Given the description of an element on the screen output the (x, y) to click on. 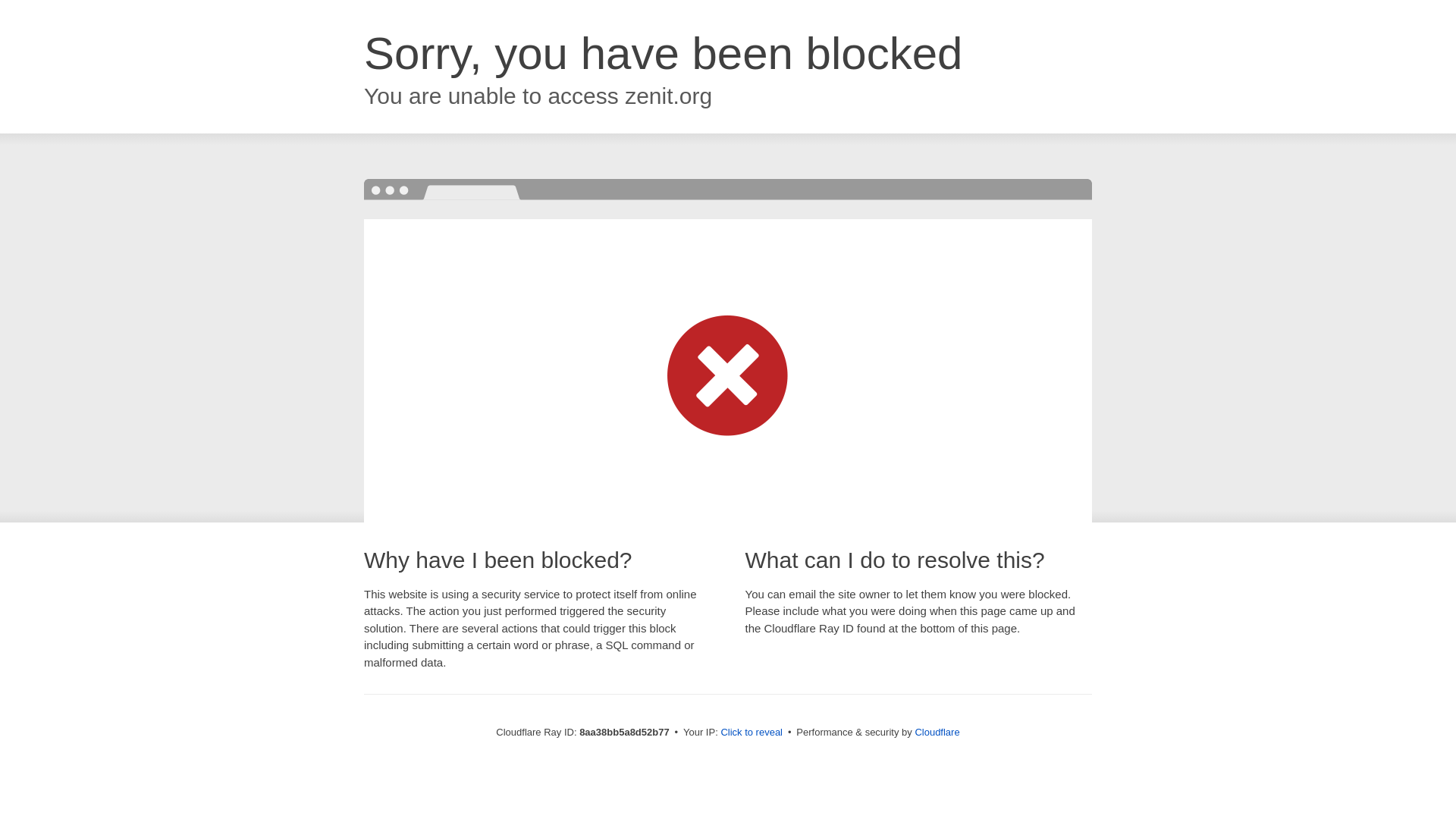
Cloudflare (936, 731)
Click to reveal (751, 732)
